Given the description of an element on the screen output the (x, y) to click on. 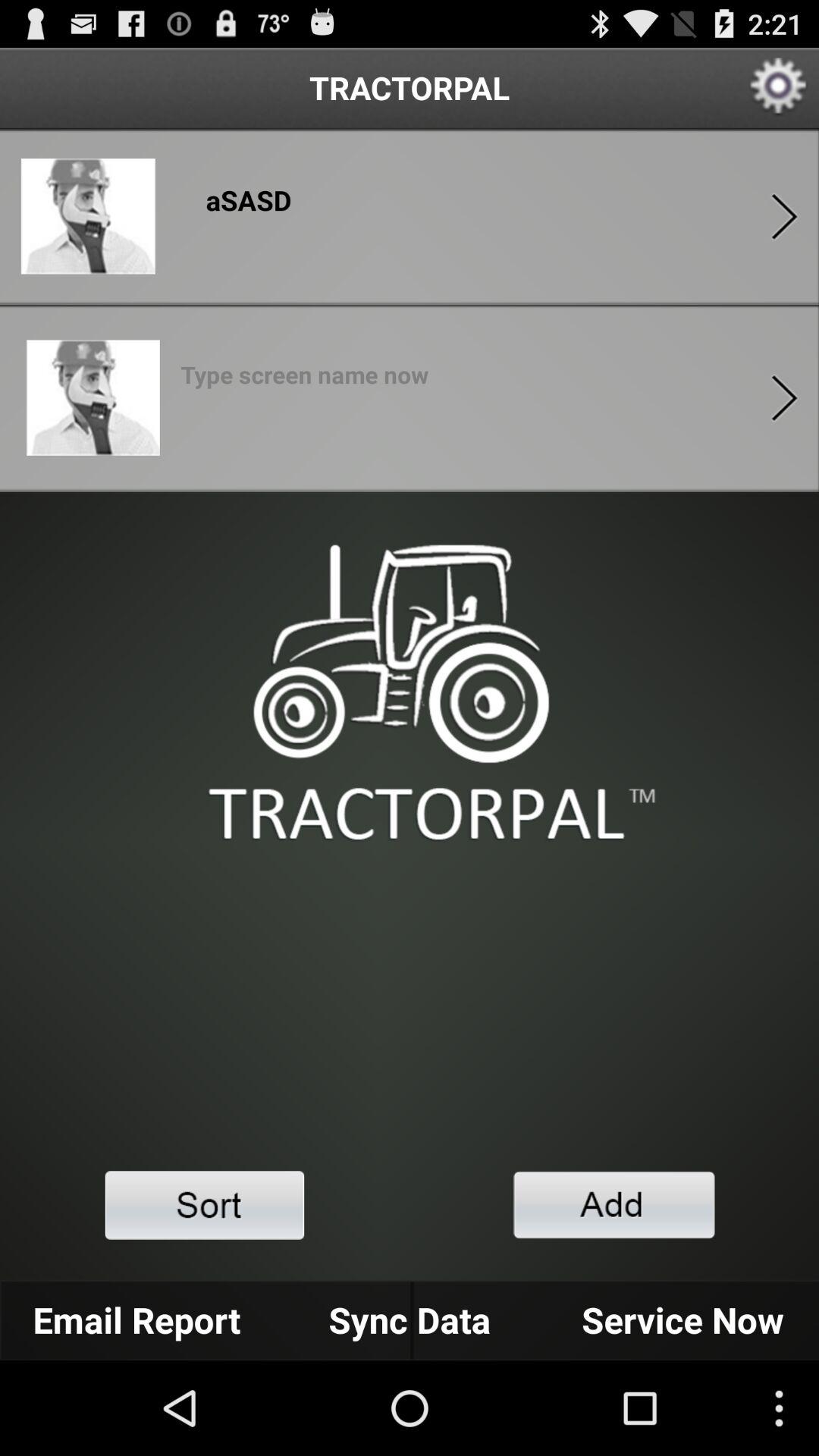
setting option (778, 87)
